Given the description of an element on the screen output the (x, y) to click on. 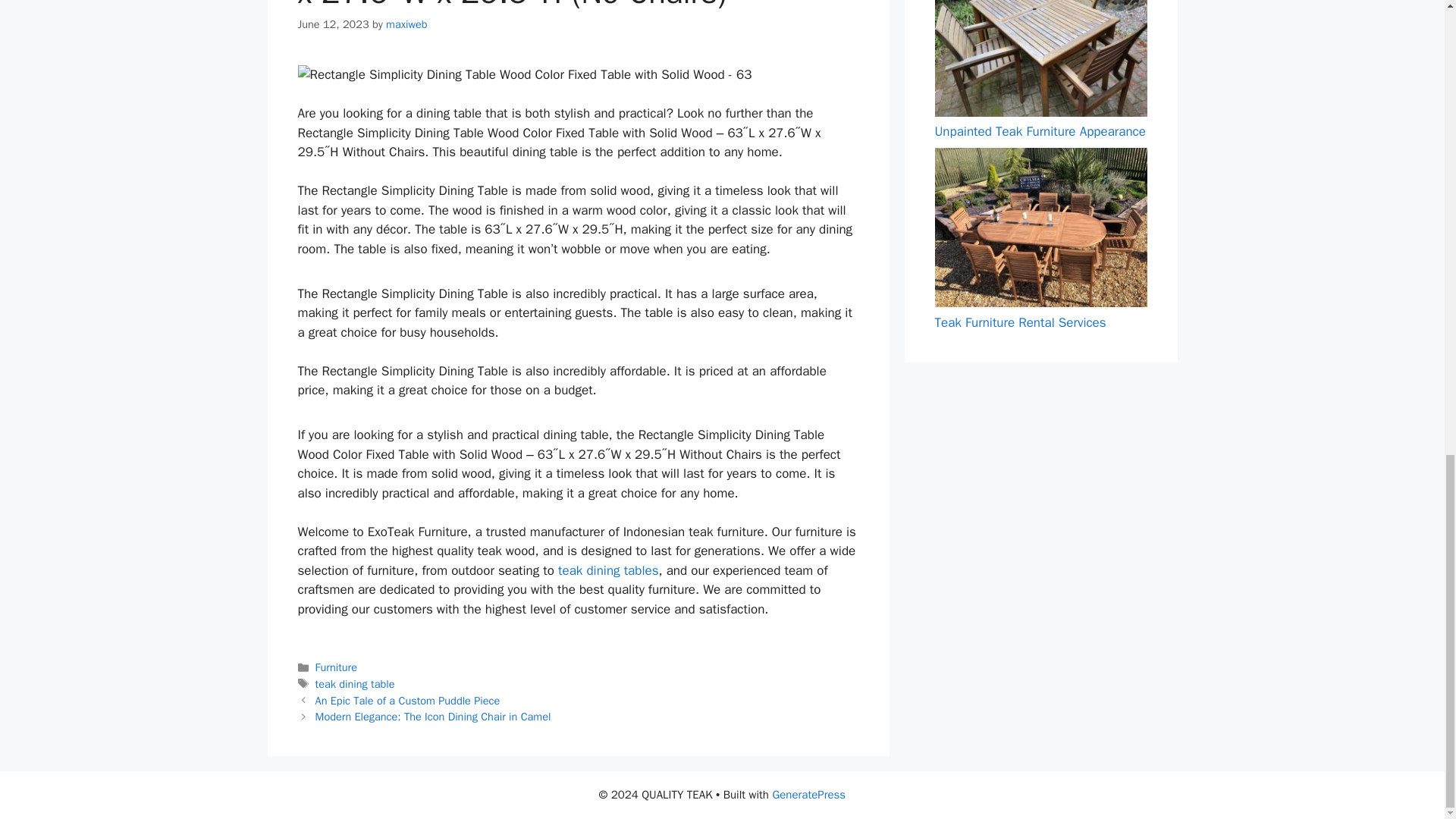
teak dining tables (607, 570)
Furniture (335, 667)
teak dining table (354, 684)
Teak Furniture Rental Services (1019, 322)
Modern Elegance: The Icon Dining Chair in Camel (433, 716)
Unpainted Teak Furniture Appearance (1039, 131)
View all posts by maxiweb (406, 24)
GeneratePress (808, 794)
maxiweb (406, 24)
An Epic Tale of a Custom Puddle Piece (407, 700)
